Given the description of an element on the screen output the (x, y) to click on. 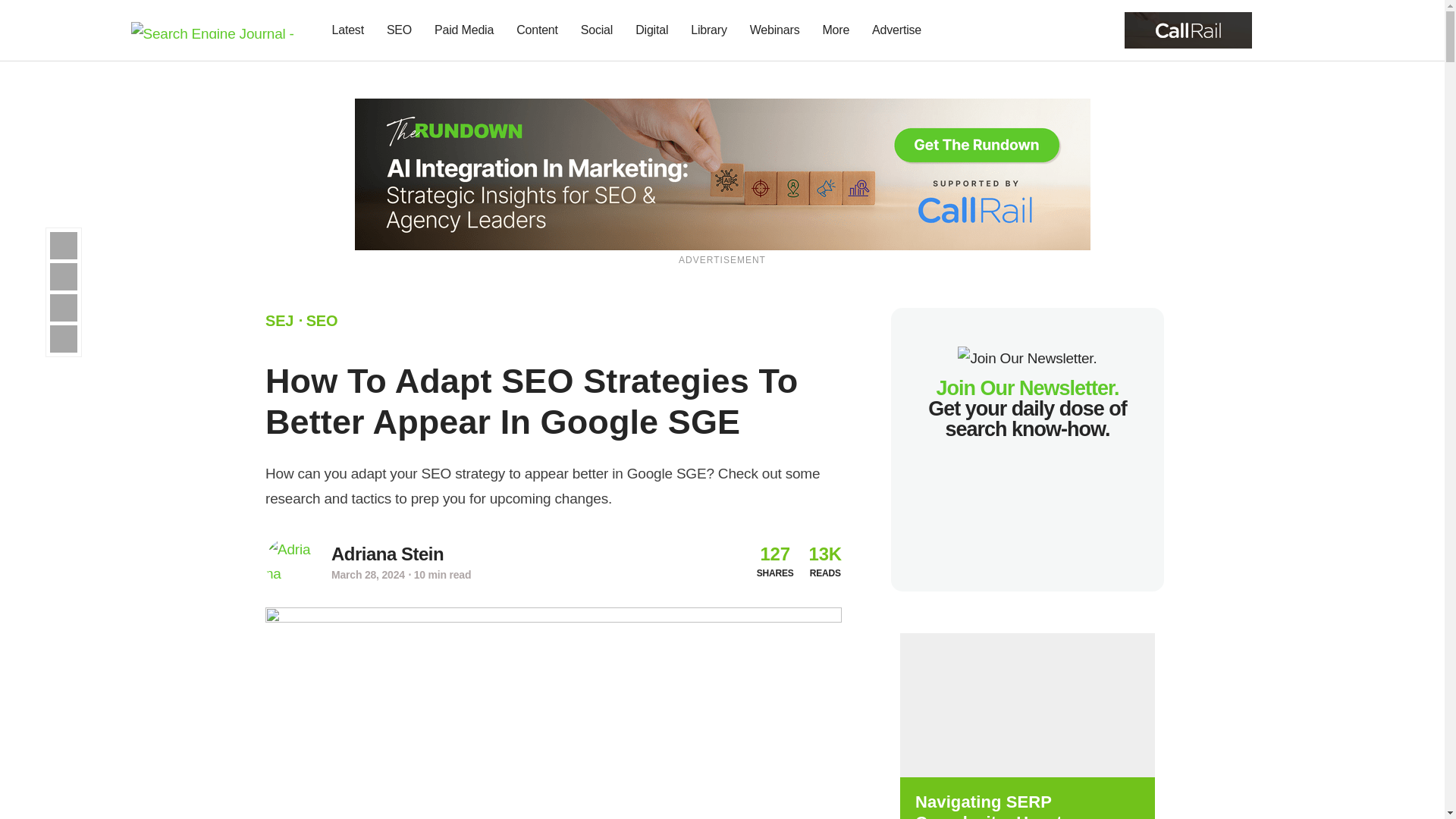
Subscribe to our Newsletter (1277, 30)
Latest (347, 30)
Get The Rundown (1187, 28)
Go to Author Page (289, 562)
Get The Rundown (722, 172)
Paid Media (464, 30)
Go to Author Page (387, 553)
